Given the description of an element on the screen output the (x, y) to click on. 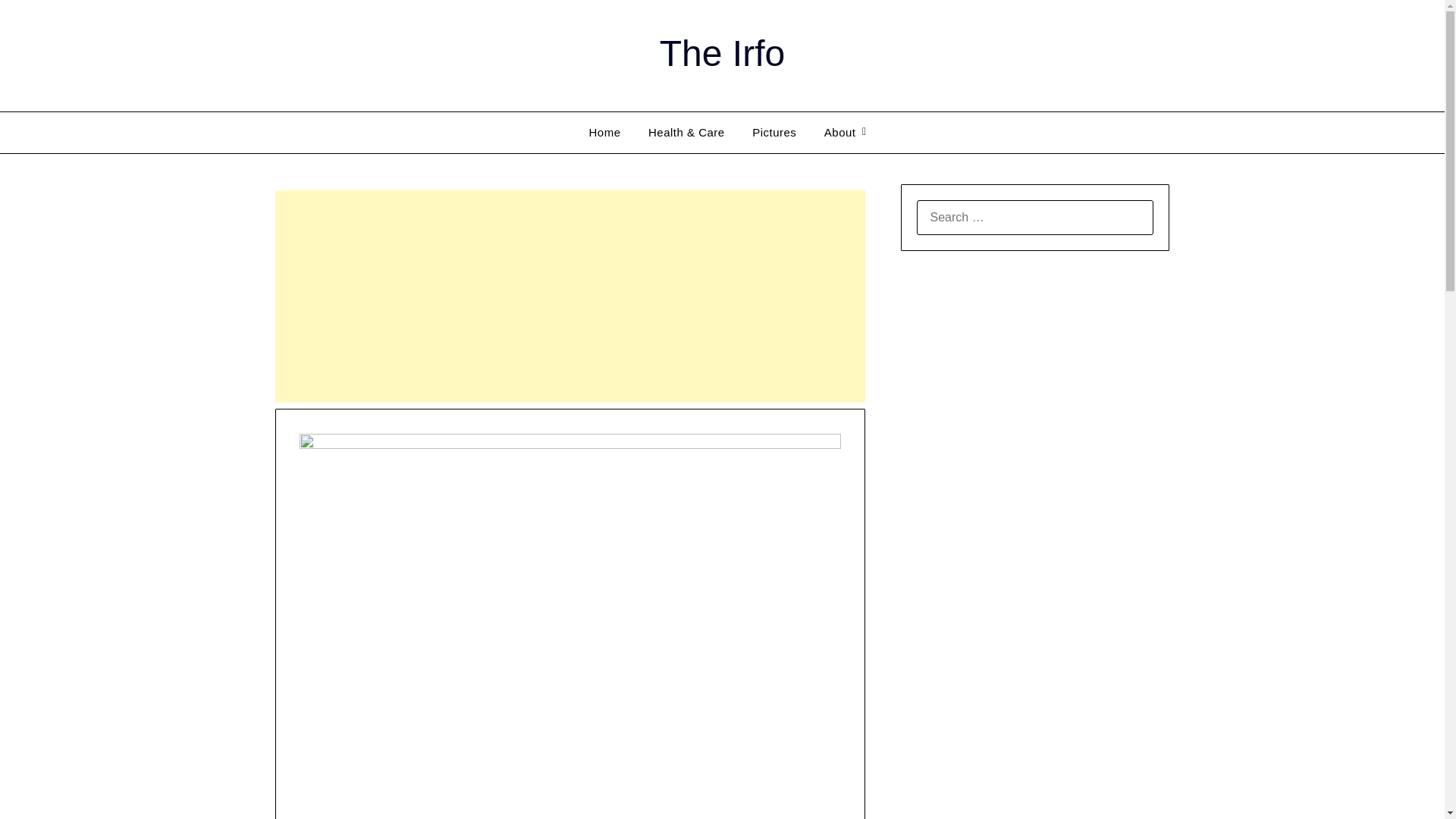
Search (38, 22)
Home (603, 132)
The Irfo (721, 53)
About (839, 132)
Pictures (773, 132)
Advertisement (569, 296)
